Given the description of an element on the screen output the (x, y) to click on. 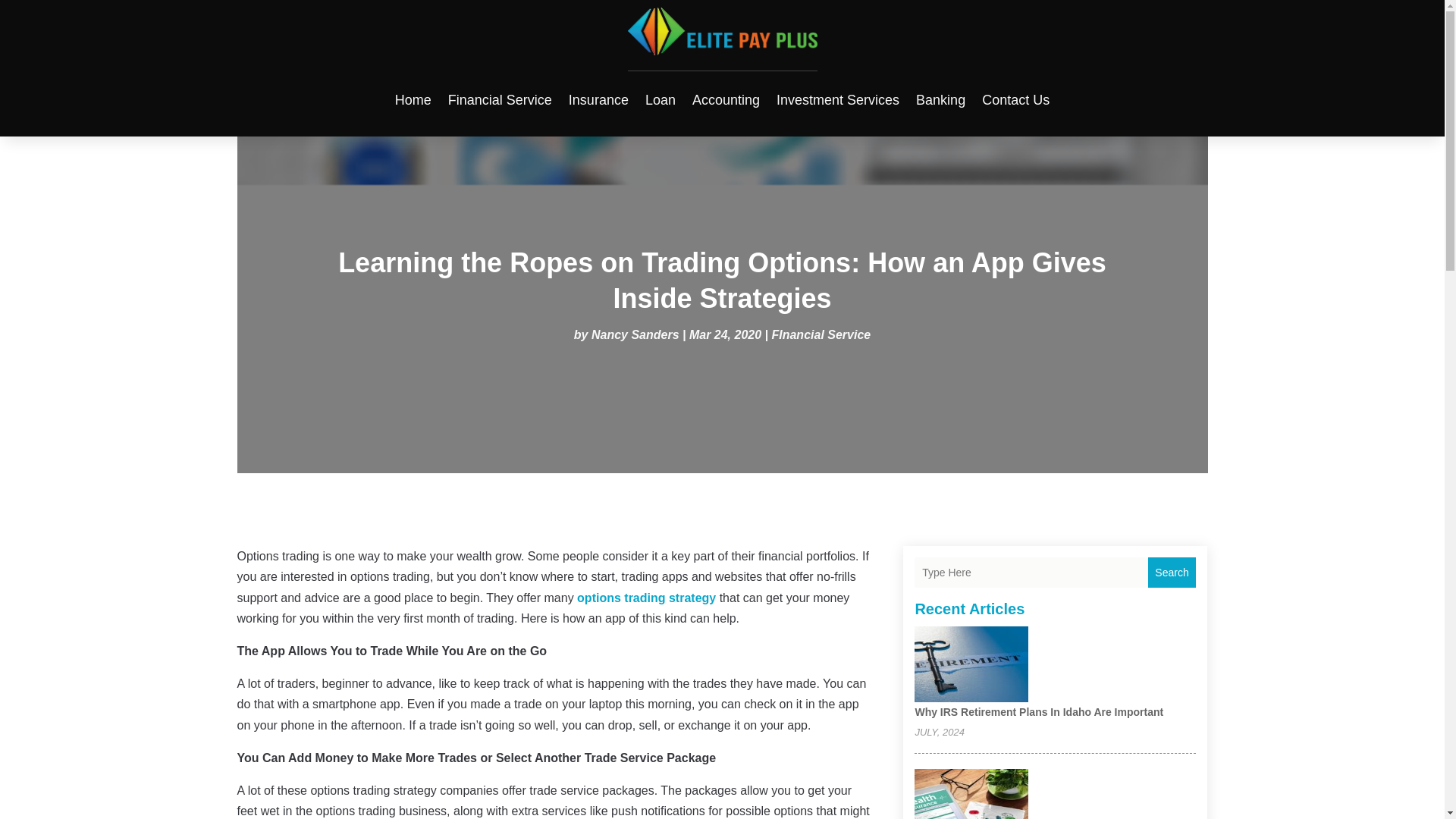
Nancy Sanders (635, 334)
Search (1172, 572)
Investment Services (837, 99)
Insurance (598, 99)
FInancial Service (820, 334)
Accounting (726, 99)
Contact Us (1015, 99)
Financial Service (499, 99)
options trading strategy (646, 597)
Posts by Nancy Sanders (635, 334)
